Given the description of an element on the screen output the (x, y) to click on. 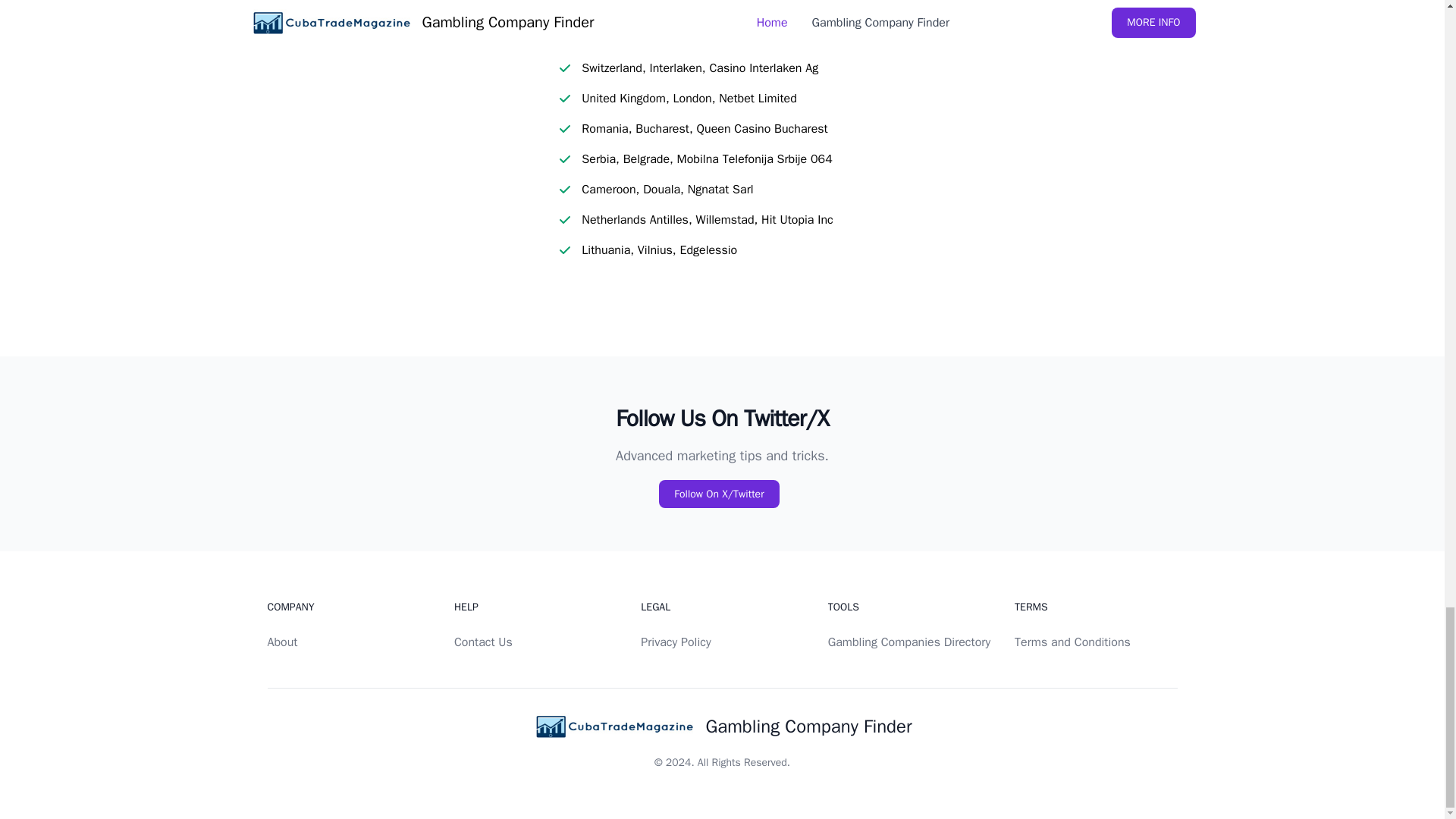
Romania, Bucharest, Queen Casino Bucharest (703, 128)
Cameroon, Douala, Ngnatat Sarl (666, 189)
About (281, 642)
Lithuania, Vilnius, Edgelessio (658, 249)
Gambling Companies Directory (909, 642)
Terms and Conditions (1072, 642)
France, Pornichet, Casino De Pornichet Groupe Partouche (733, 8)
Contact Us (483, 642)
Netherlands Antilles, Willemstad, Hit Utopia Inc (706, 219)
Peru, San Isidro, Meridianbet Peru (671, 37)
